Given the description of an element on the screen output the (x, y) to click on. 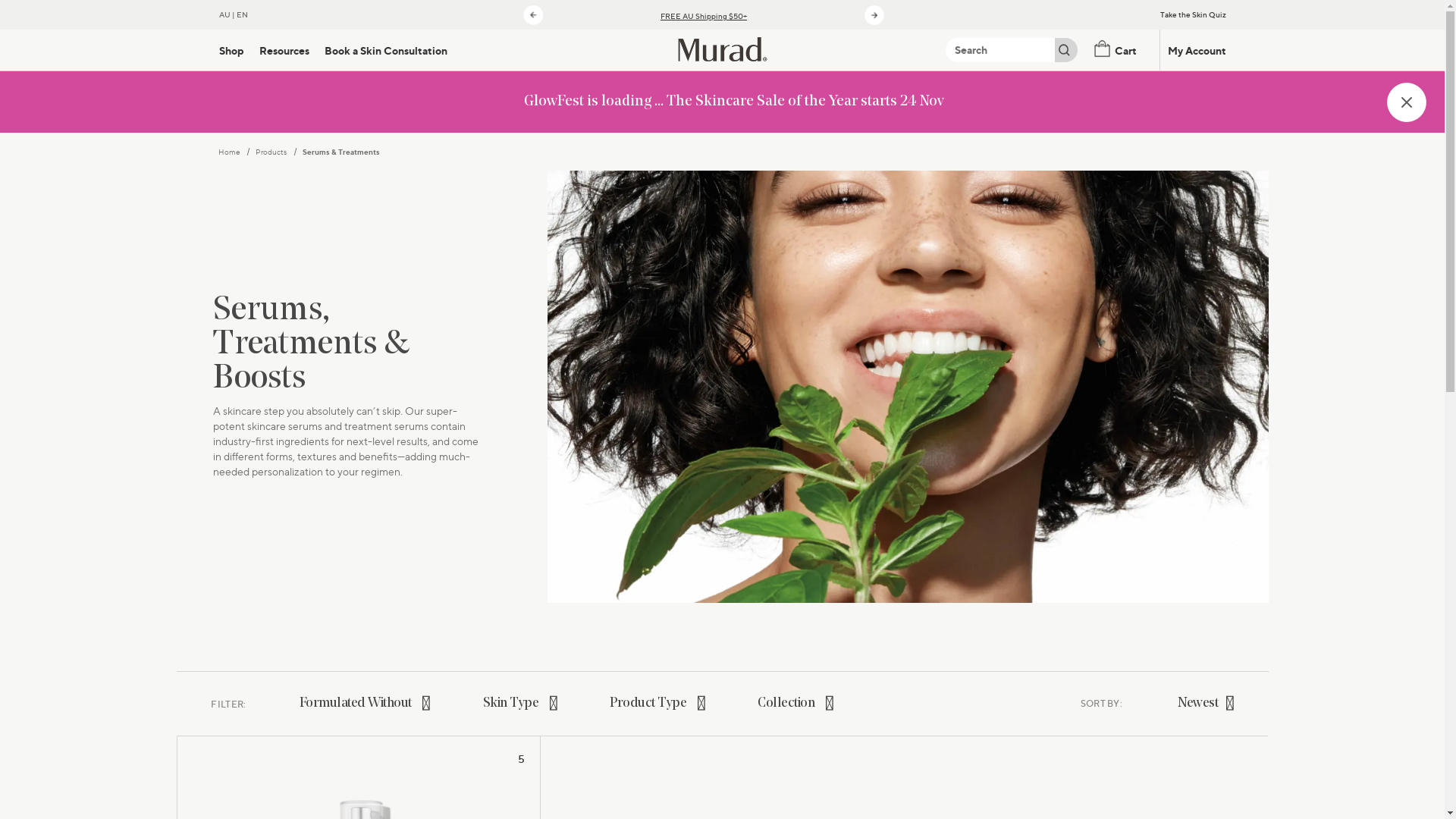
Shop Element type: text (230, 50)
Products Element type: text (270, 151)
Book a Skin Consultation Element type: text (385, 50)
Take the Skin Quiz Element type: text (1193, 14)
Search Element type: text (999, 49)
Murad AU Element type: hover (721, 49)
FREE AU Shipping $50+ Element type: text (703, 16)
Home Element type: text (229, 151)
Resources Element type: text (284, 50)
Previous Element type: text (532, 14)
Next Element type: text (874, 14)
Serums & Treatments Element type: text (340, 151)
